Given the description of an element on the screen output the (x, y) to click on. 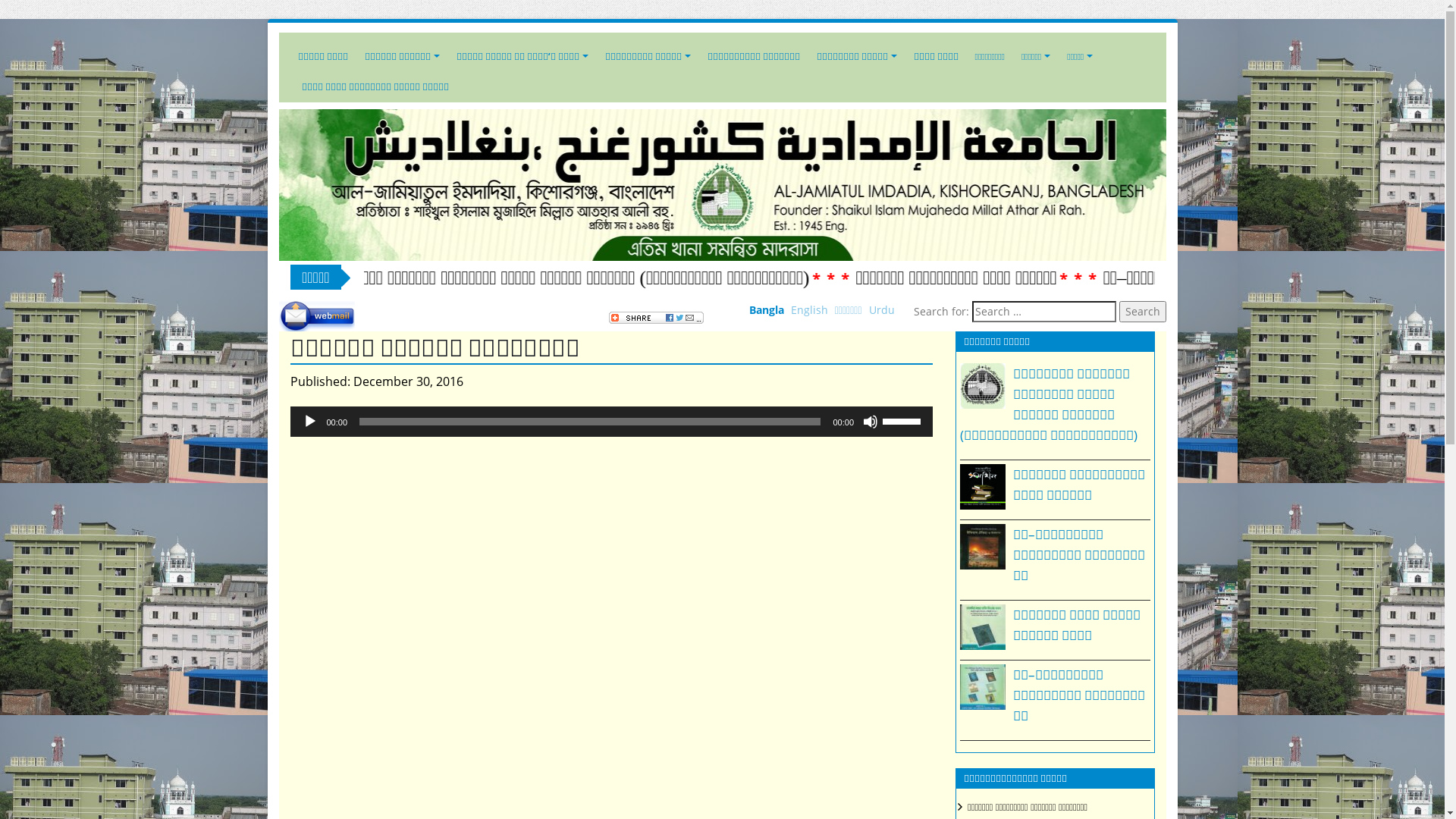
English Element type: text (809, 309)
Bangla Element type: text (766, 309)
Web Mail Element type: hover (316, 316)
Play Element type: hover (308, 421)
Urdu Element type: text (881, 309)
Search Element type: text (1142, 311)
Mute Element type: hover (870, 421)
Use Up/Down Arrow keys to increase or decrease volume. Element type: text (903, 419)
